Given the description of an element on the screen output the (x, y) to click on. 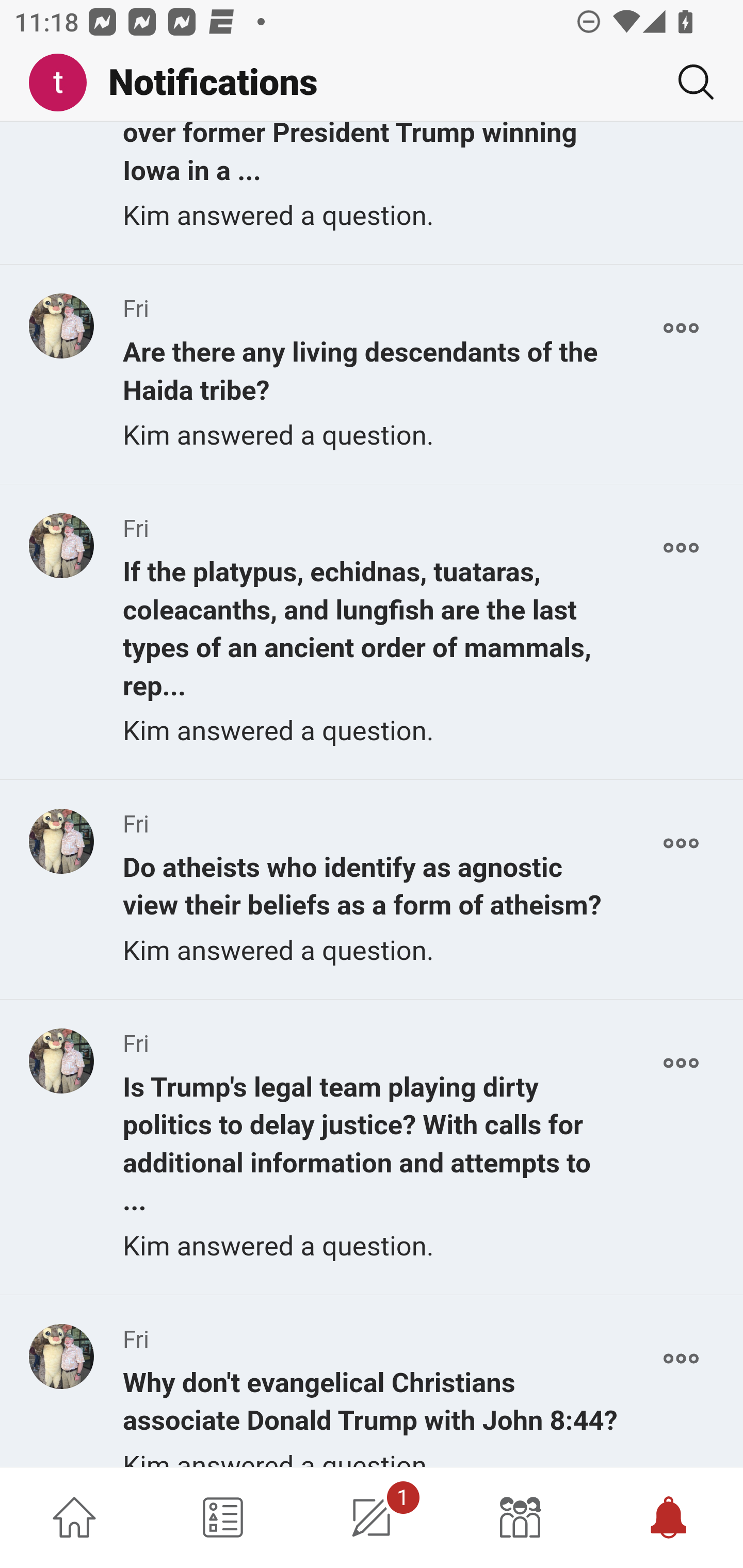
Me (64, 83)
Search (688, 82)
More (681, 329)
More (681, 547)
More (681, 844)
More (681, 1065)
More (681, 1359)
1 (371, 1517)
